Given the description of an element on the screen output the (x, y) to click on. 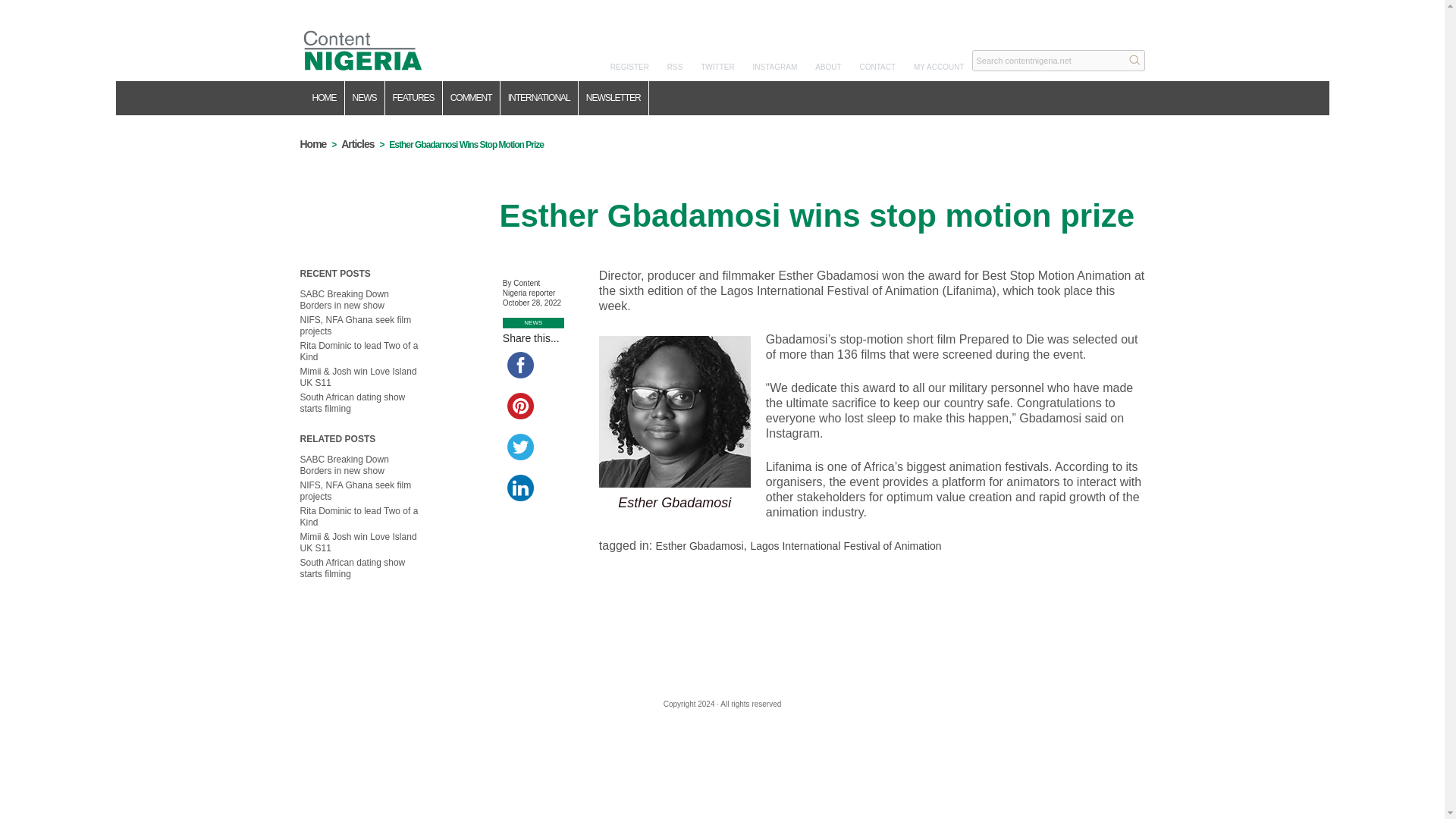
South African dating show starts filming (352, 568)
Rita Dominic to lead Two of a Kind (359, 351)
NIFS, NFA Ghana seek film projects (355, 325)
Search (1134, 59)
FEATURES (413, 98)
Articles (357, 143)
Home (312, 143)
NIFS, NFA Ghana seek film projects (355, 490)
CONTACT (877, 67)
HOME (324, 98)
RSS (674, 67)
Home (357, 143)
Search for: (1058, 60)
Esther Gbadamosi (700, 545)
pinterest (520, 406)
